Given the description of an element on the screen output the (x, y) to click on. 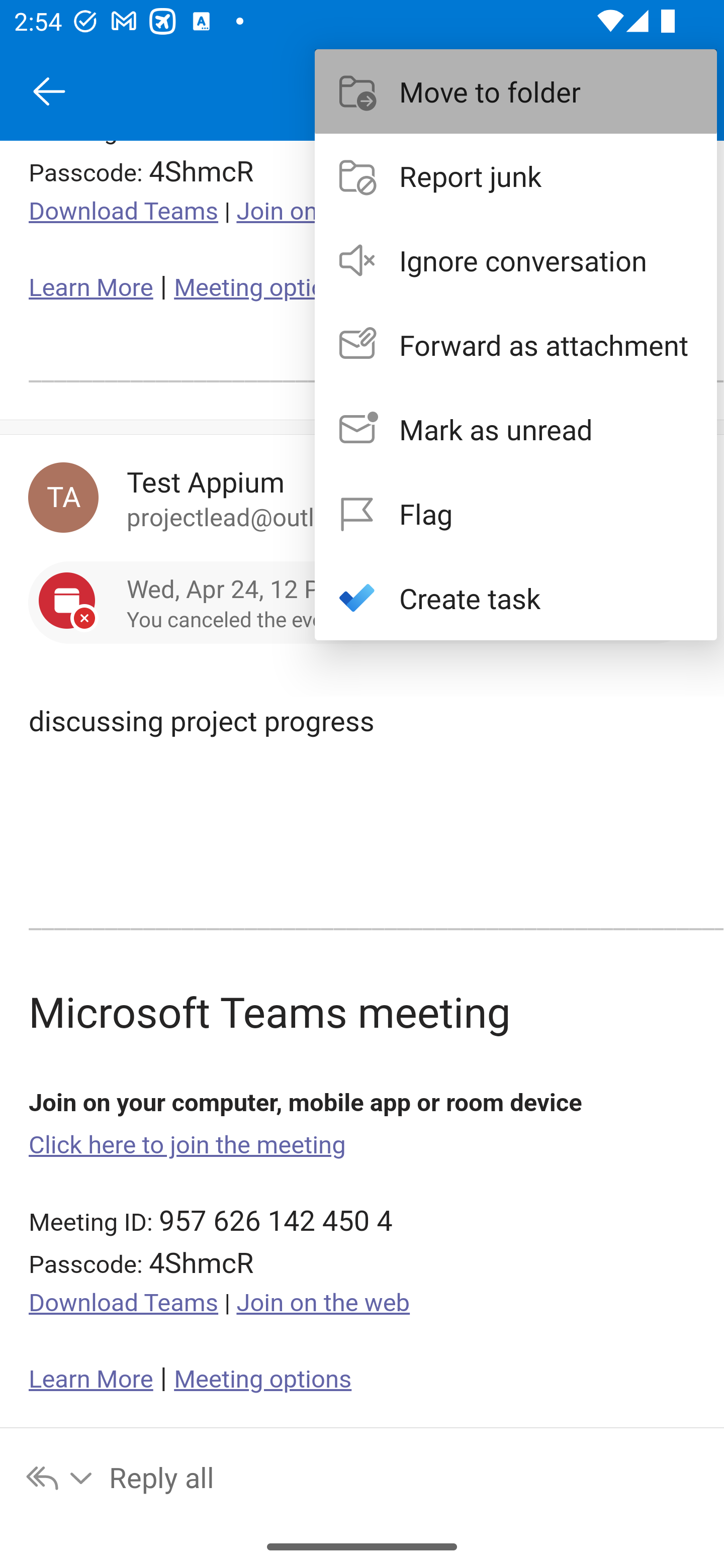
Move to folder (515, 90)
Report junk (515, 175)
Ignore conversation (515, 259)
Forward as attachment (515, 344)
Mark as unread (515, 429)
Flag (515, 513)
Create task (515, 597)
